Given the description of an element on the screen output the (x, y) to click on. 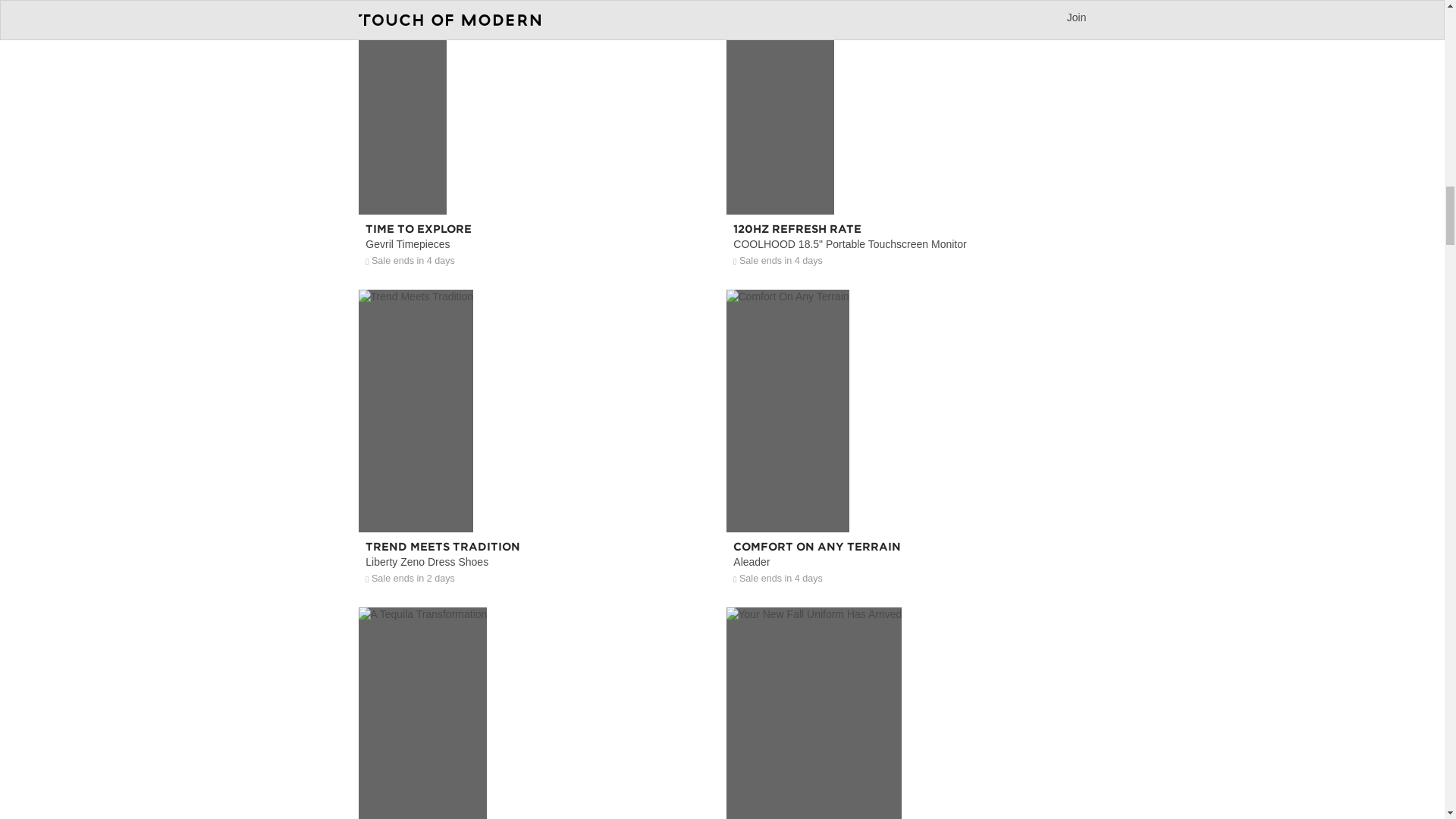
A Tequila Transformation (537, 770)
Comfort On Any Terrain (906, 500)
Your New Fall Uniform Has Arrived (906, 770)
120Hz Refresh Rate (906, 182)
Trend Meets Tradition (537, 500)
Time To Explore (537, 182)
